Given the description of an element on the screen output the (x, y) to click on. 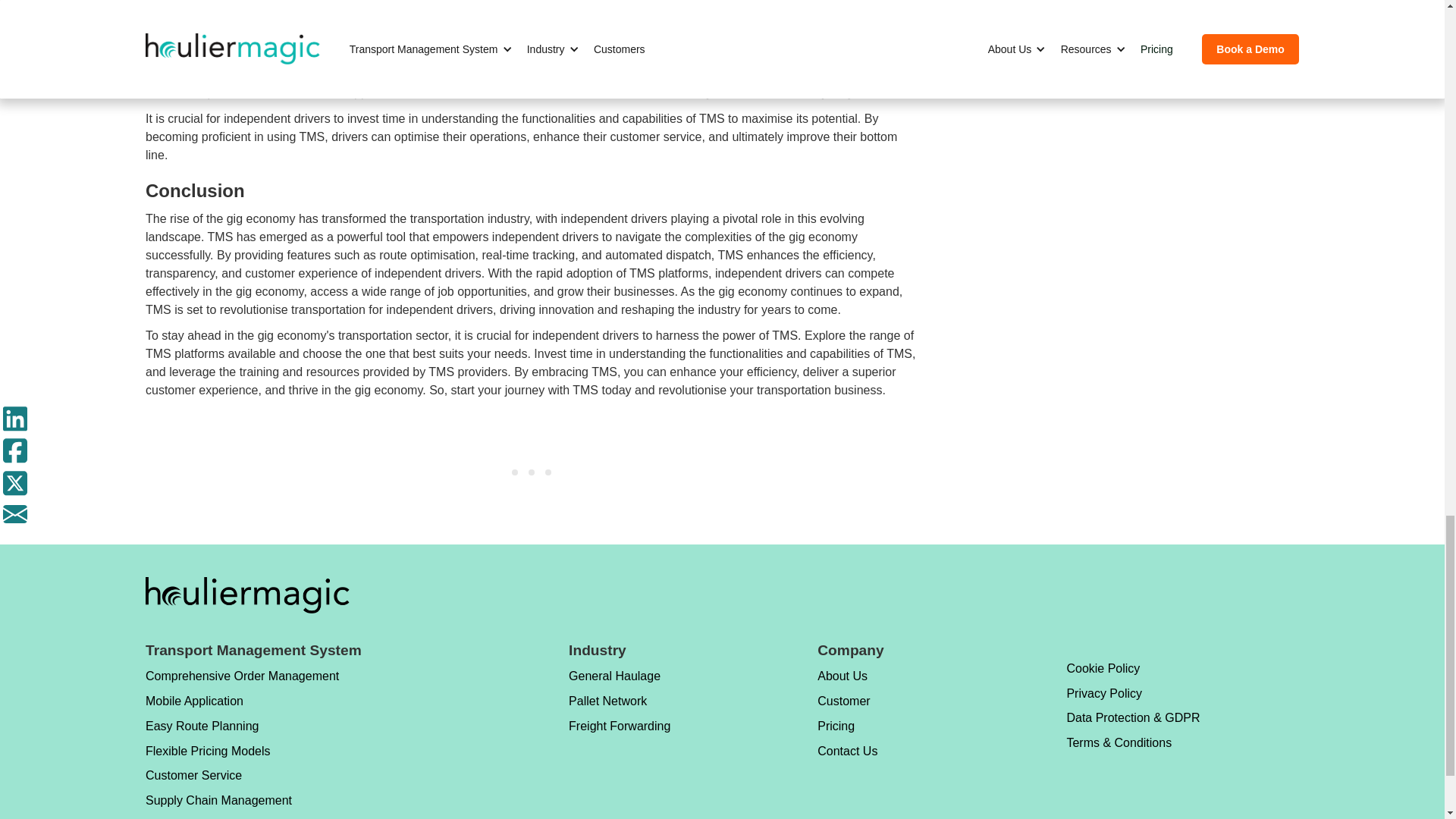
Supply Chain Management (242, 800)
Customer Service (242, 775)
Comprehensive Order Management (242, 676)
Flexible Pricing Models (242, 750)
Mobile Application (242, 701)
Easy Route Planning (242, 725)
